Given the description of an element on the screen output the (x, y) to click on. 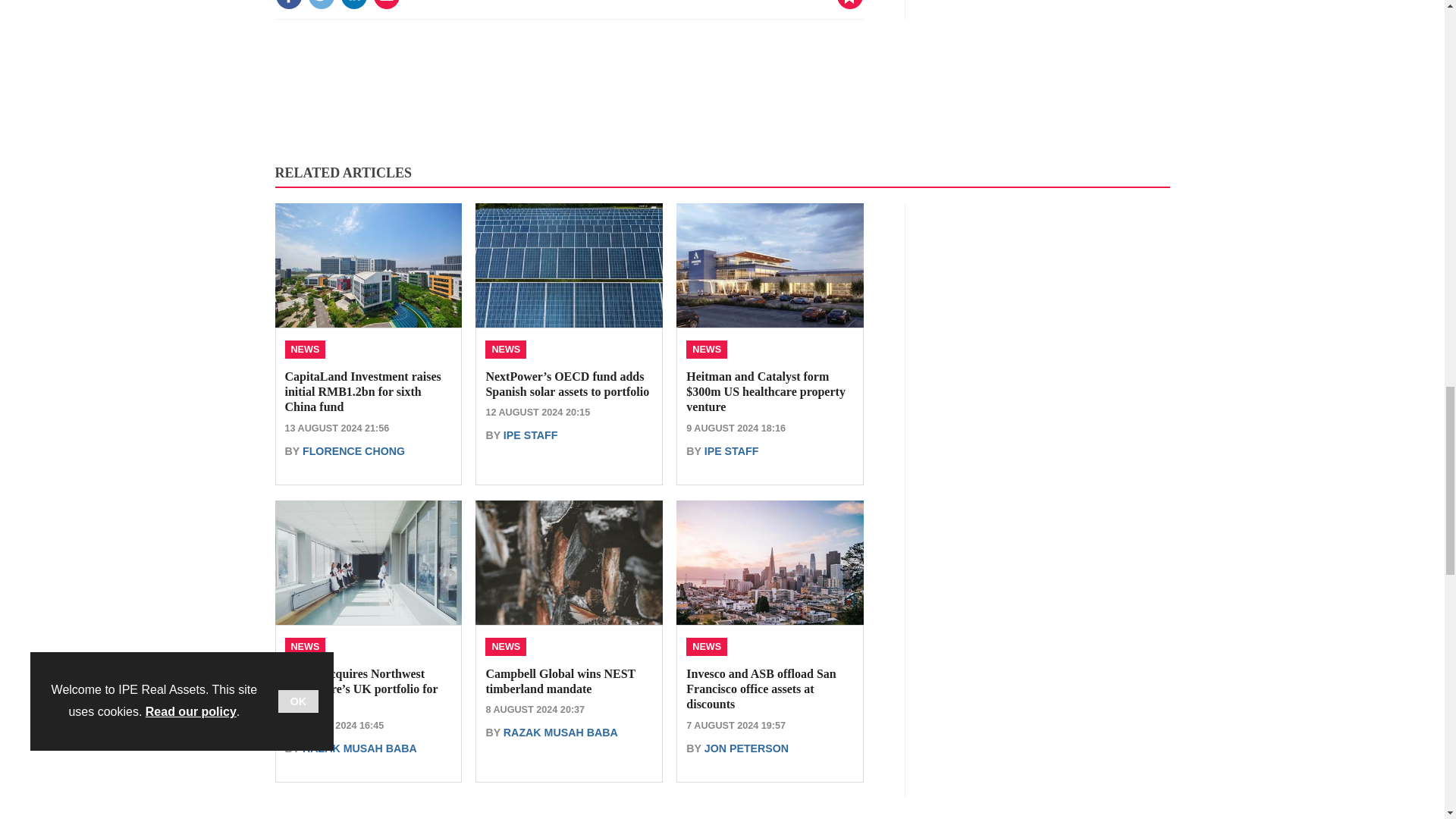
Email this article (386, 4)
Share this on Twitter (320, 4)
Share this on Facebook (288, 4)
Share this on Linked in (352, 4)
